Given the description of an element on the screen output the (x, y) to click on. 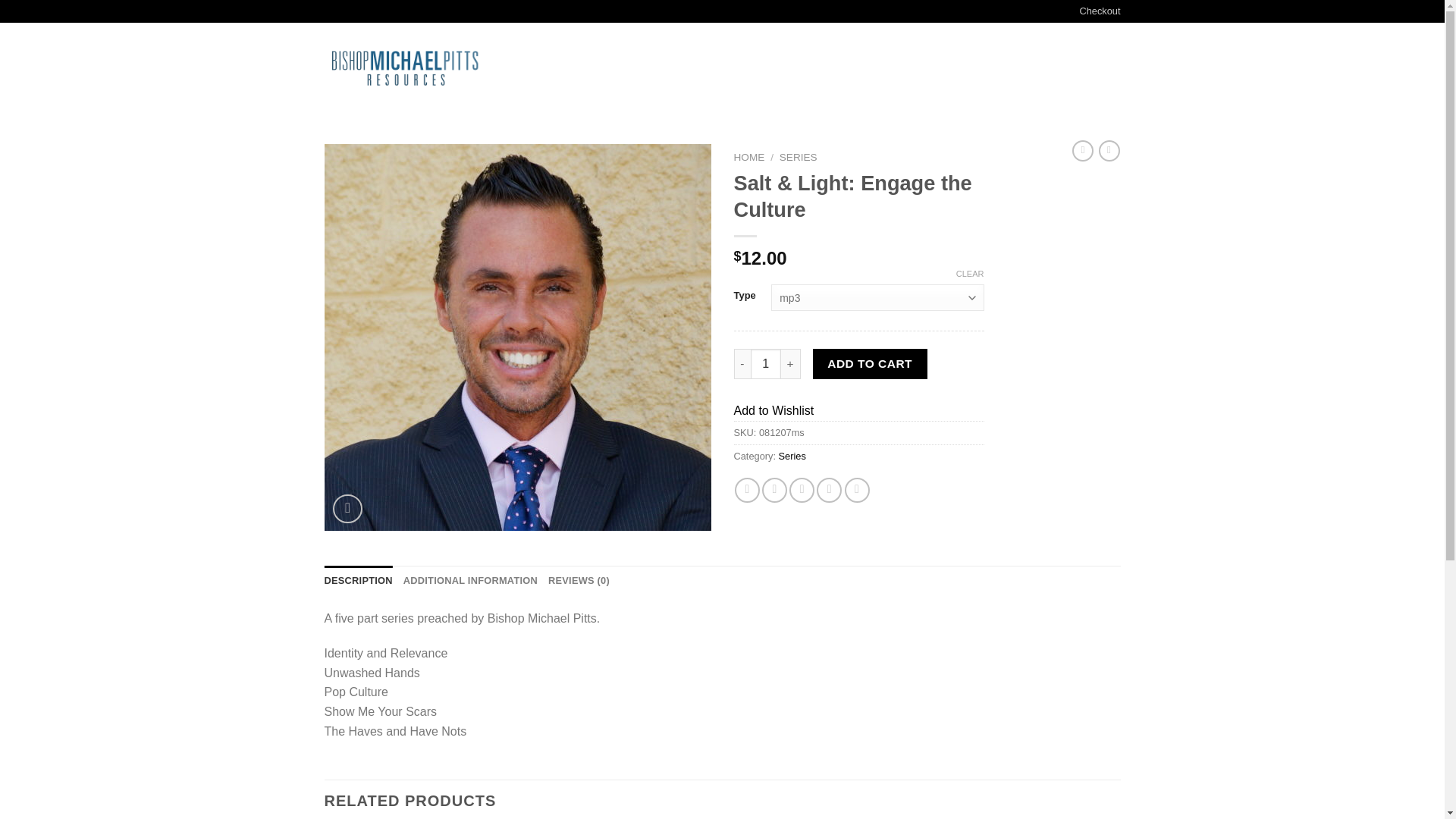
SERIES (797, 156)
BOOKING (683, 67)
PROMOTIONAL (612, 67)
Pin on Pinterest (828, 489)
Email to a Friend (801, 489)
Zoom (347, 509)
Share on Facebook (747, 489)
Checkout (1098, 11)
LOGIN (991, 67)
Cart (1074, 68)
